Given the description of an element on the screen output the (x, y) to click on. 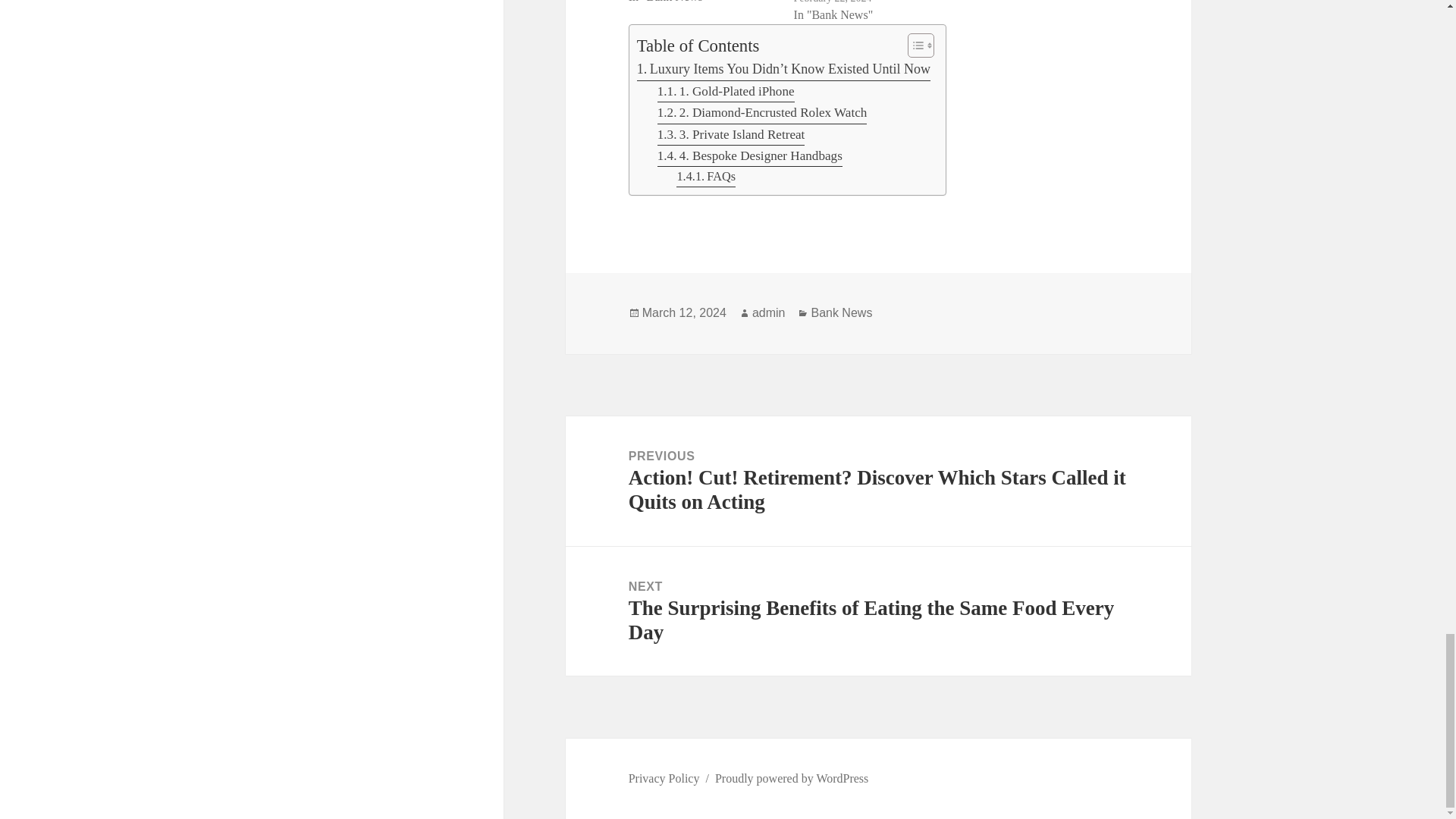
1. Gold-Plated iPhone (726, 91)
Bank News (841, 313)
FAQs (706, 177)
Proudly powered by WordPress (790, 778)
4. Bespoke Designer Handbags (750, 156)
admin (769, 313)
Privacy Policy (664, 778)
3. Private Island Retreat (731, 134)
FAQs (706, 177)
2. Diamond-Encrusted Rolex Watch (762, 112)
1. Gold-Plated iPhone (726, 91)
4. Bespoke Designer Handbags (750, 156)
March 12, 2024 (684, 313)
2. Diamond-Encrusted Rolex Watch (762, 112)
